Given the description of an element on the screen output the (x, y) to click on. 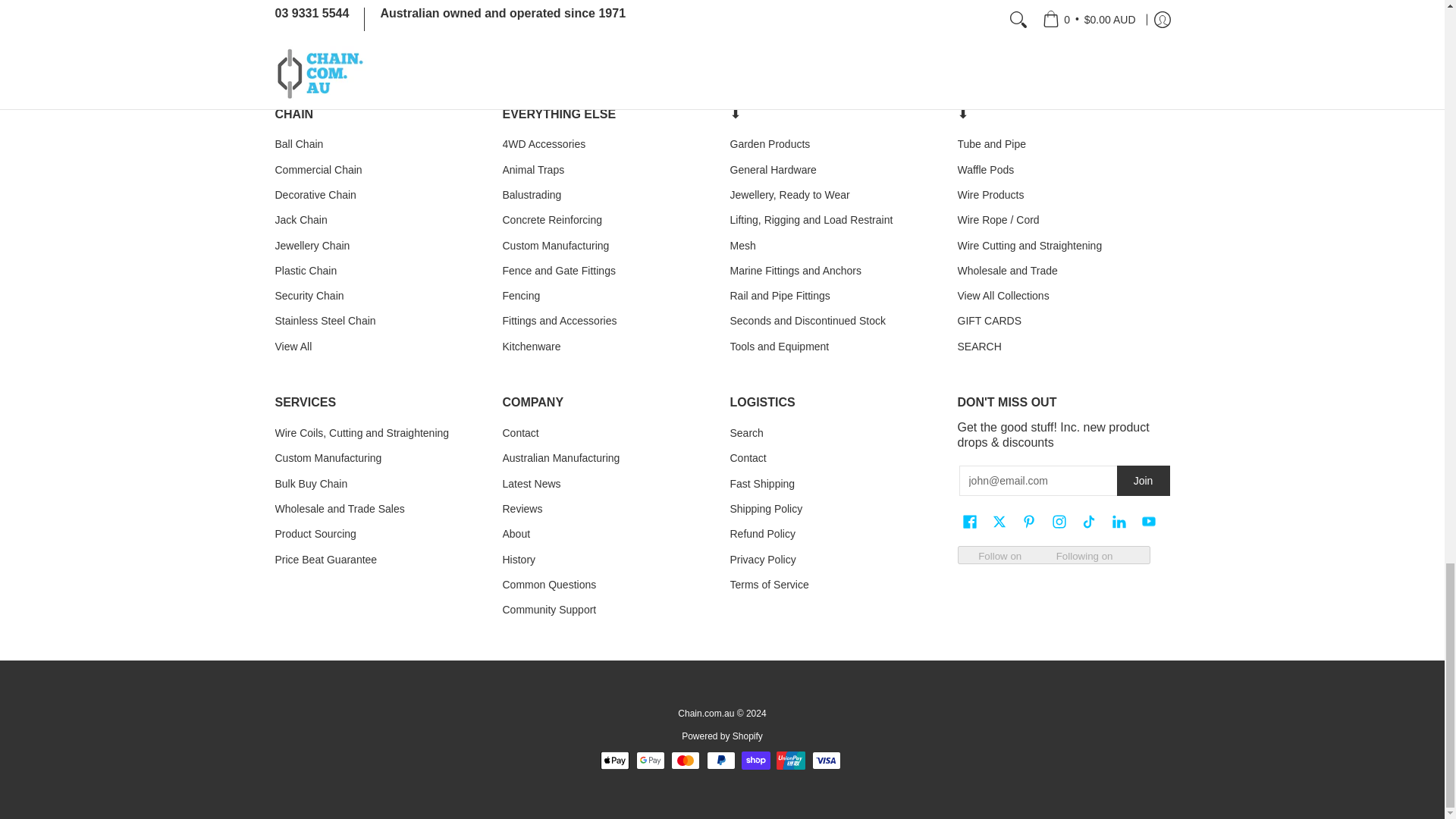
Google Pay (650, 760)
PayPal (720, 760)
Mastercard (685, 760)
Shop Pay (755, 760)
Apple Pay (613, 760)
Union Pay (790, 760)
Visa (826, 760)
